Given the description of an element on the screen output the (x, y) to click on. 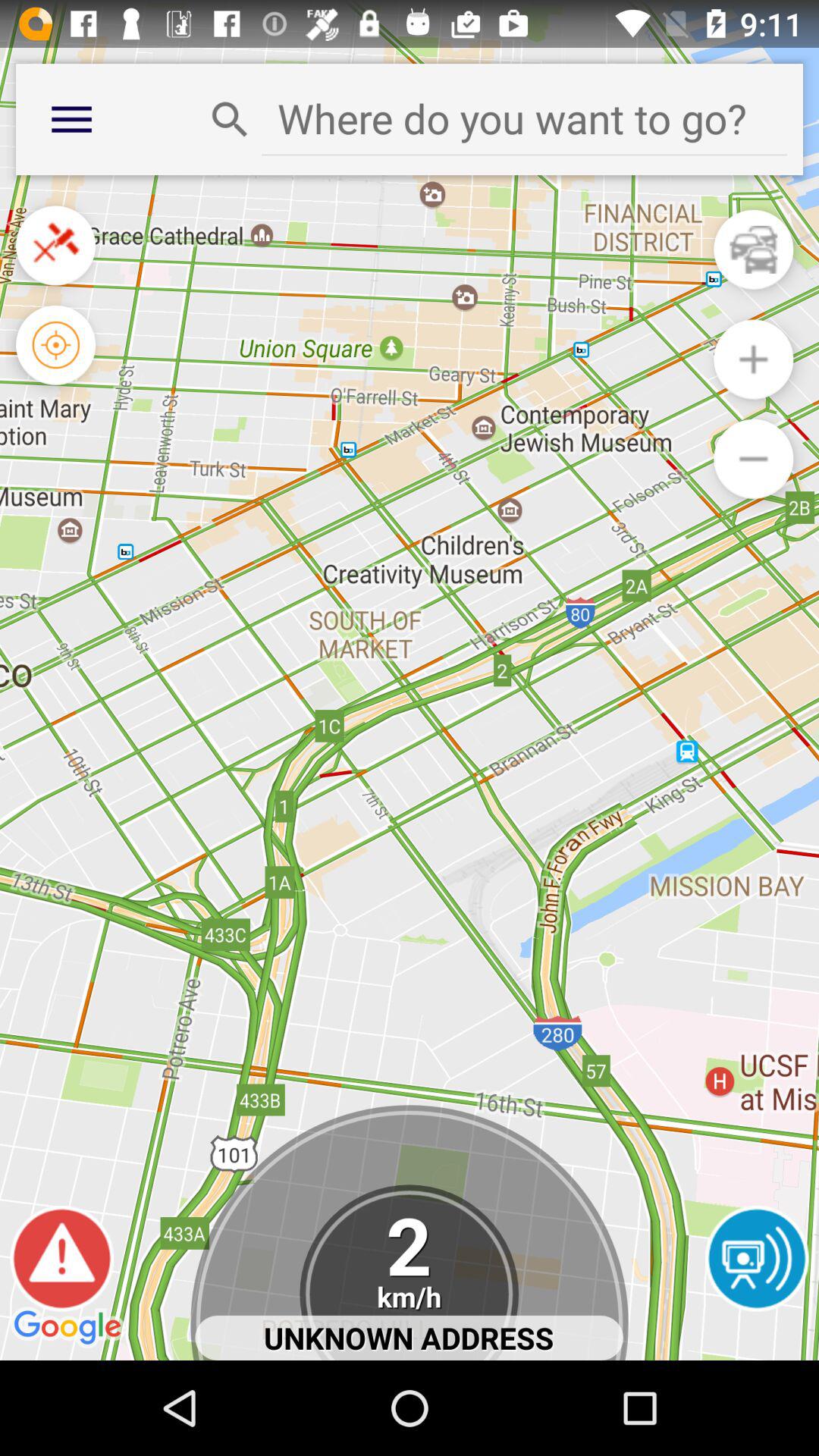
enter location (524, 118)
